Given the description of an element on the screen output the (x, y) to click on. 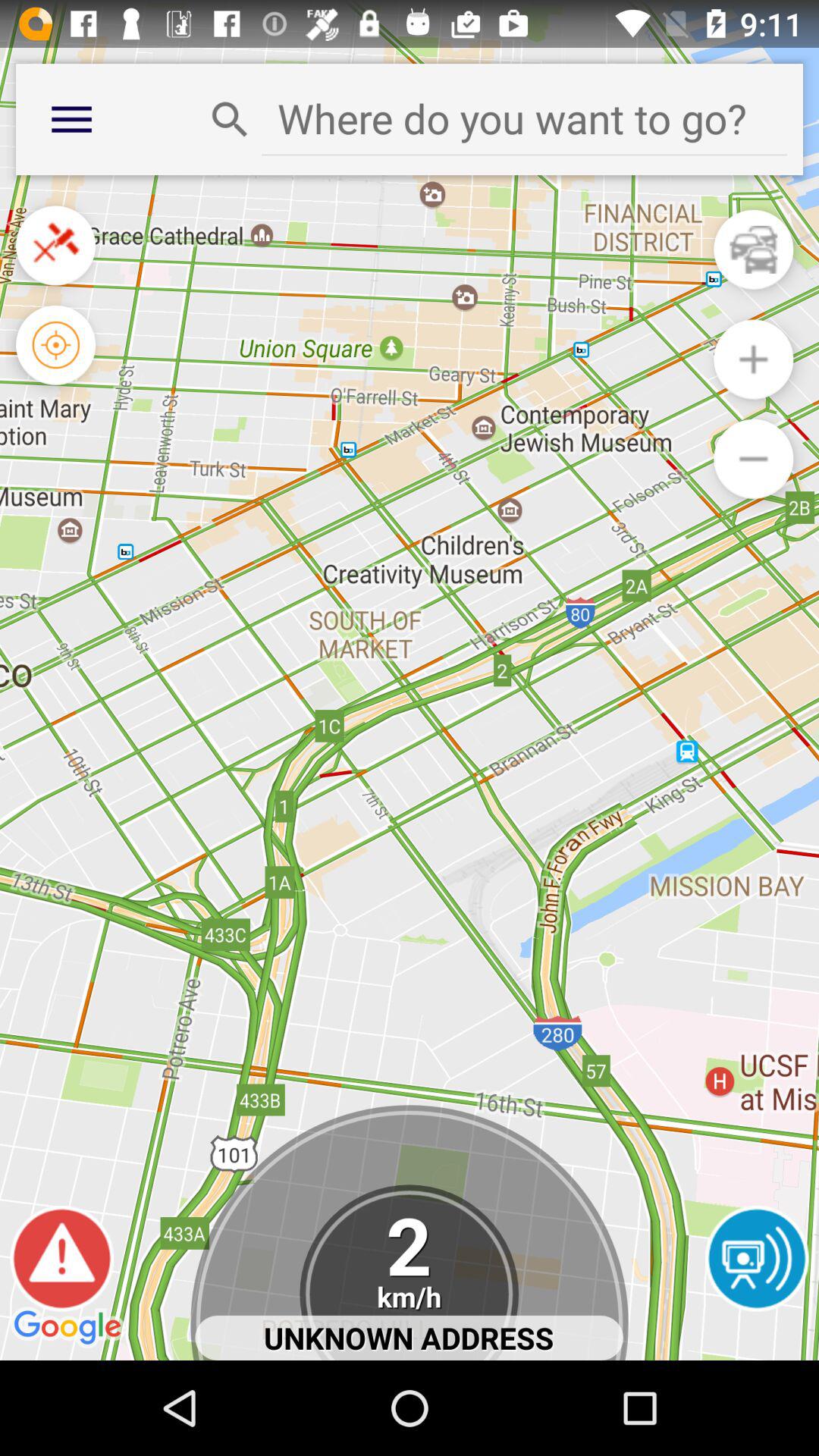
enter location (524, 118)
